Given the description of an element on the screen output the (x, y) to click on. 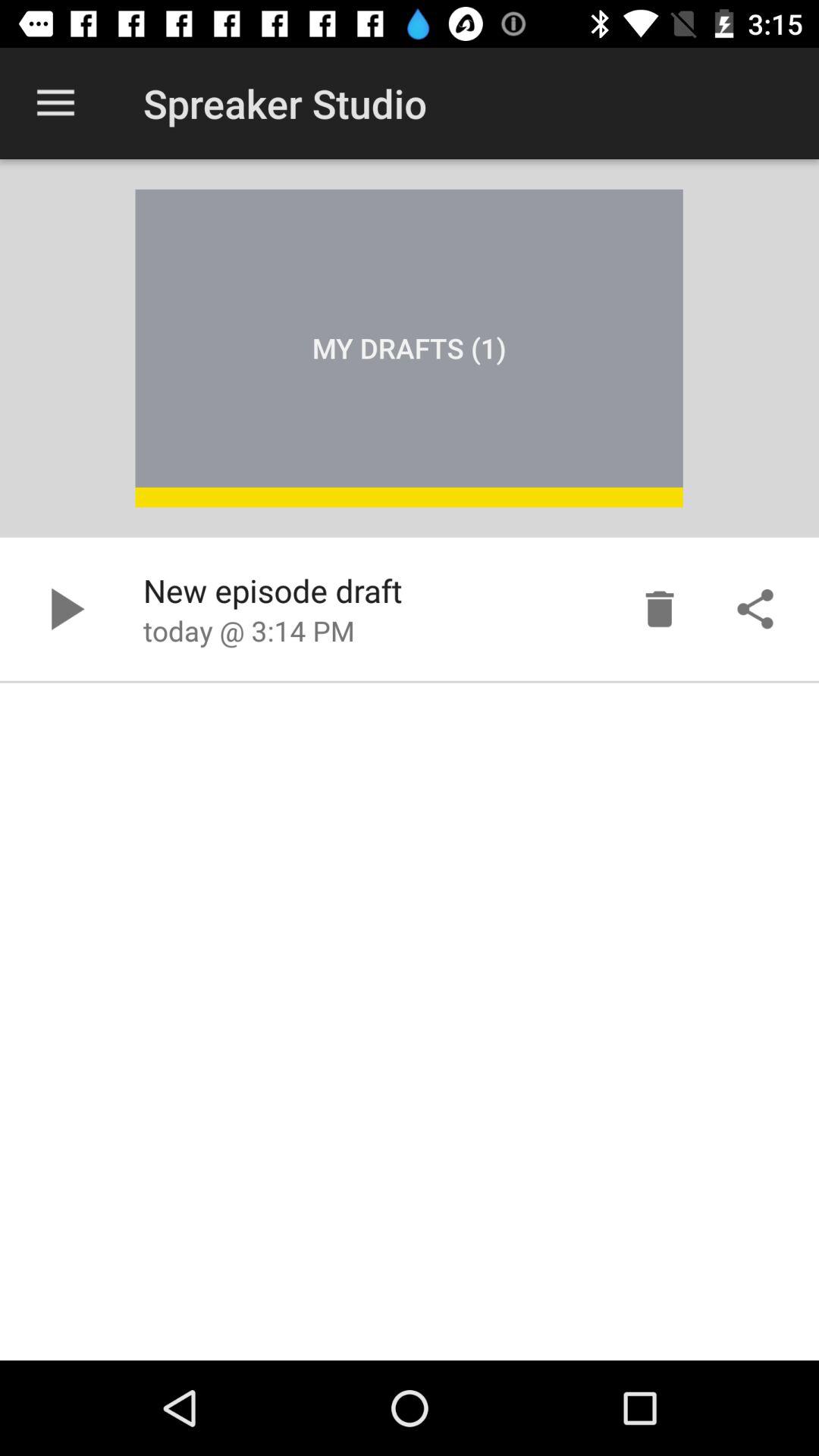
play the podcast (63, 608)
